Given the description of an element on the screen output the (x, y) to click on. 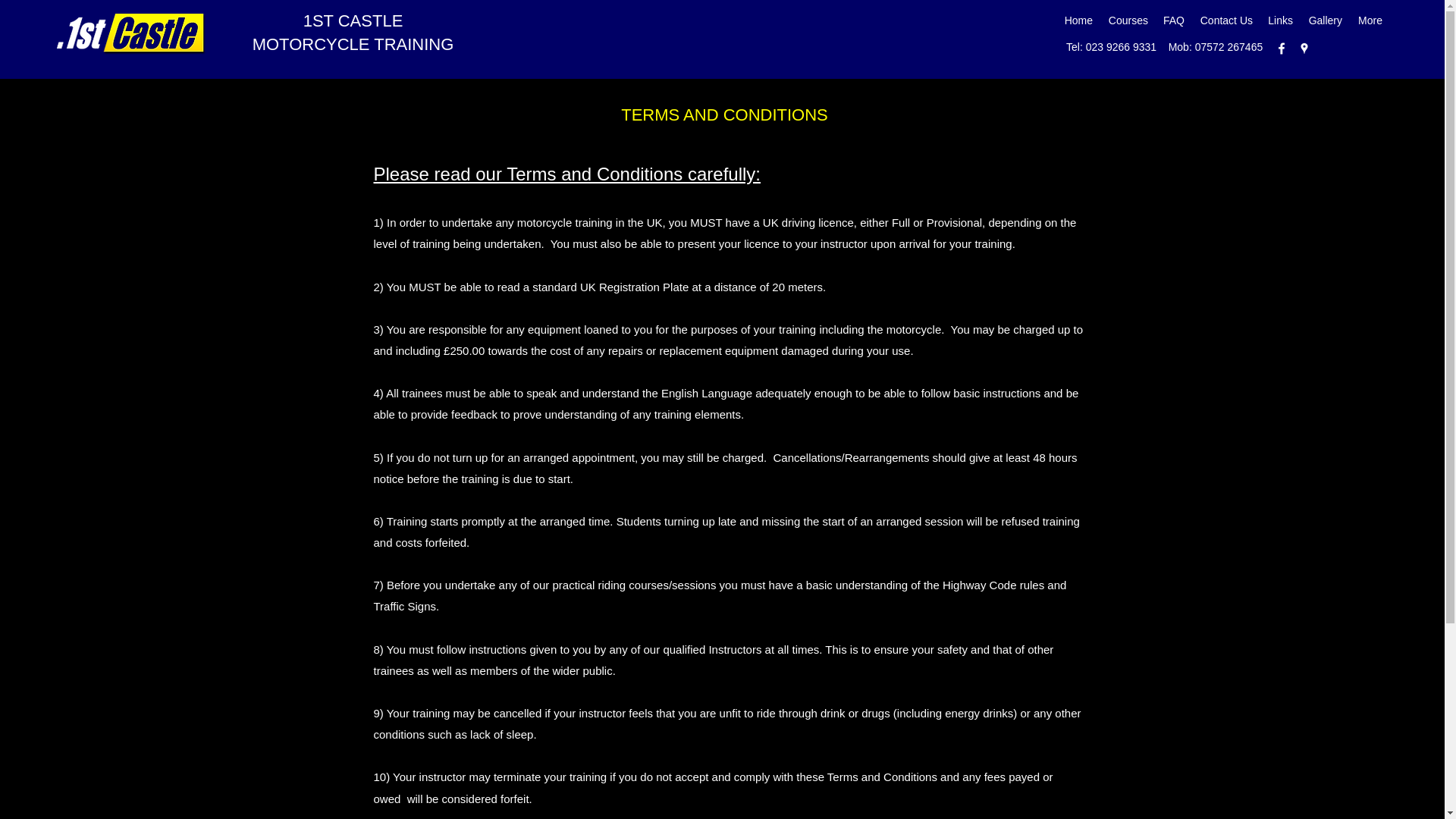
Home (1078, 20)
1ST CASTLE (352, 20)
MOTORCYCLE TRAINING (352, 44)
Courses (1128, 20)
Contact Us (1226, 20)
Gallery (1324, 20)
Links (1280, 20)
FAQ (1174, 20)
